Given the description of an element on the screen output the (x, y) to click on. 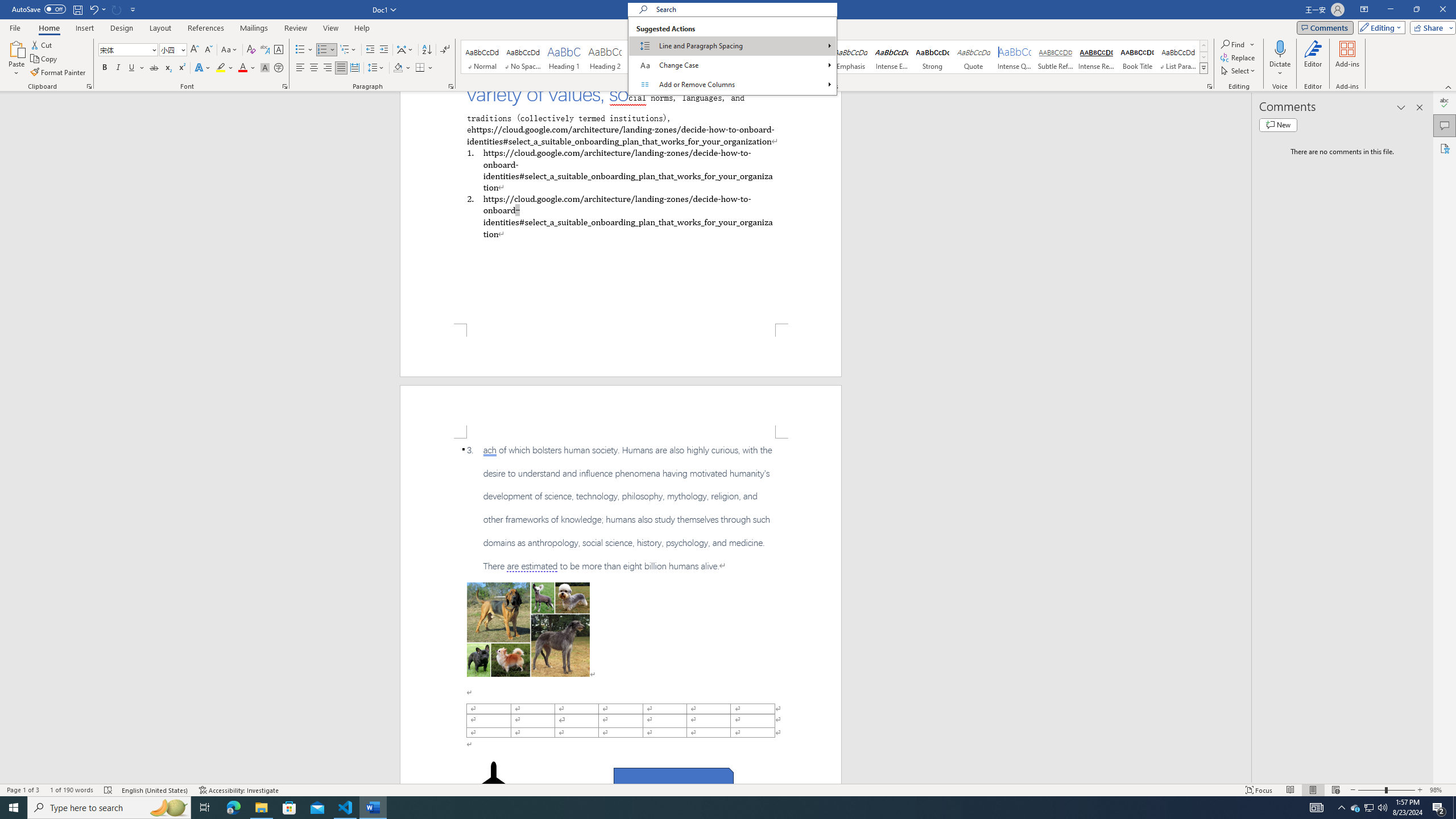
Focus  (1258, 790)
Add or Remove Columns (731, 84)
Heading 4 (686, 56)
Character Shading (264, 67)
Decrease Indent (370, 49)
Read Mode (1290, 790)
Intense Emphasis (891, 56)
Show/Hide Editing Marks (444, 49)
Find (1237, 44)
Shading (402, 67)
Zoom Out (1371, 790)
Paste (16, 58)
Paragraph... (450, 85)
Book Title (1136, 56)
